Given the description of an element on the screen output the (x, y) to click on. 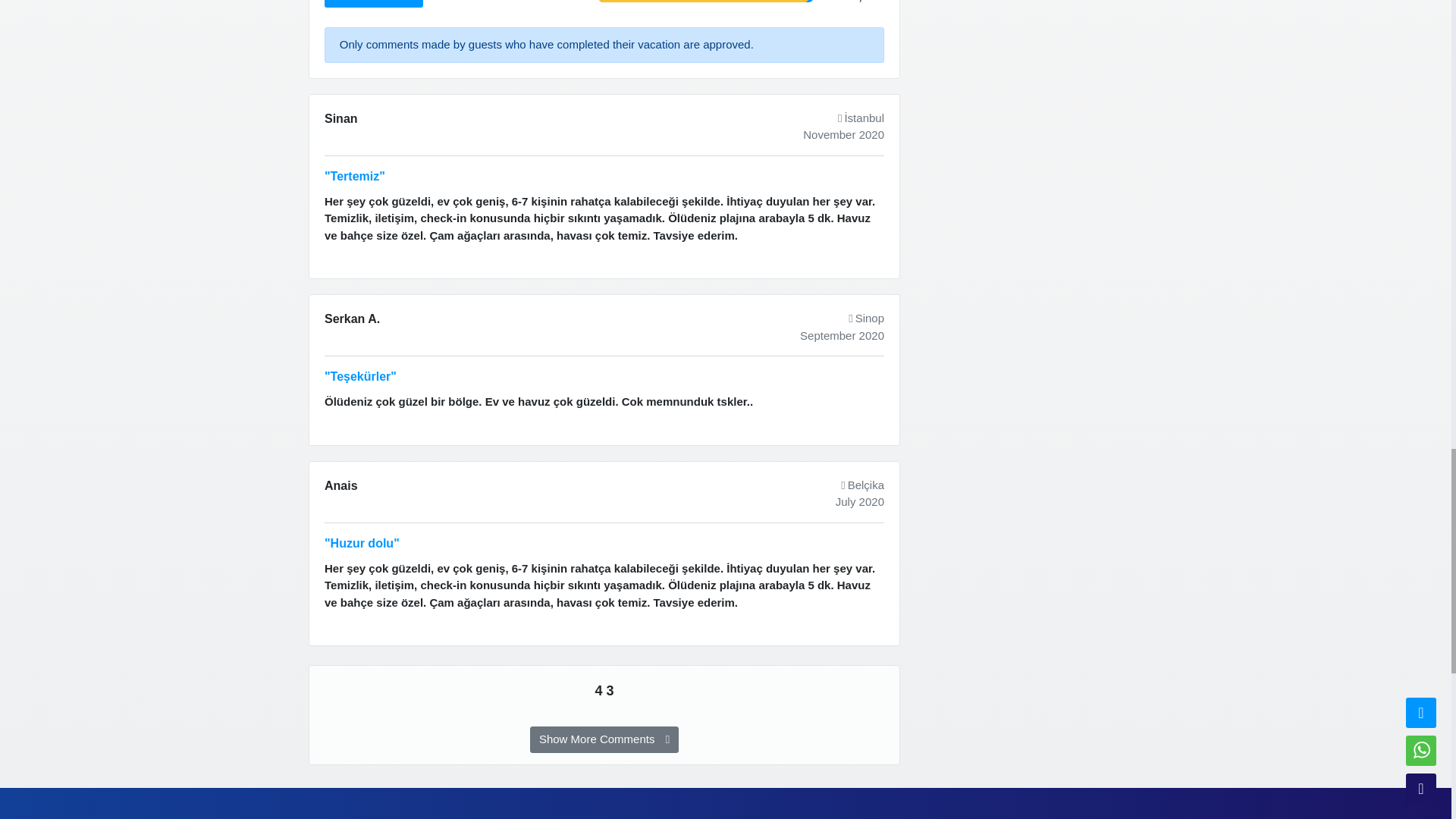
9,0 (354, 338)
10,0 (354, 137)
10,0 (354, 504)
